Given the description of an element on the screen output the (x, y) to click on. 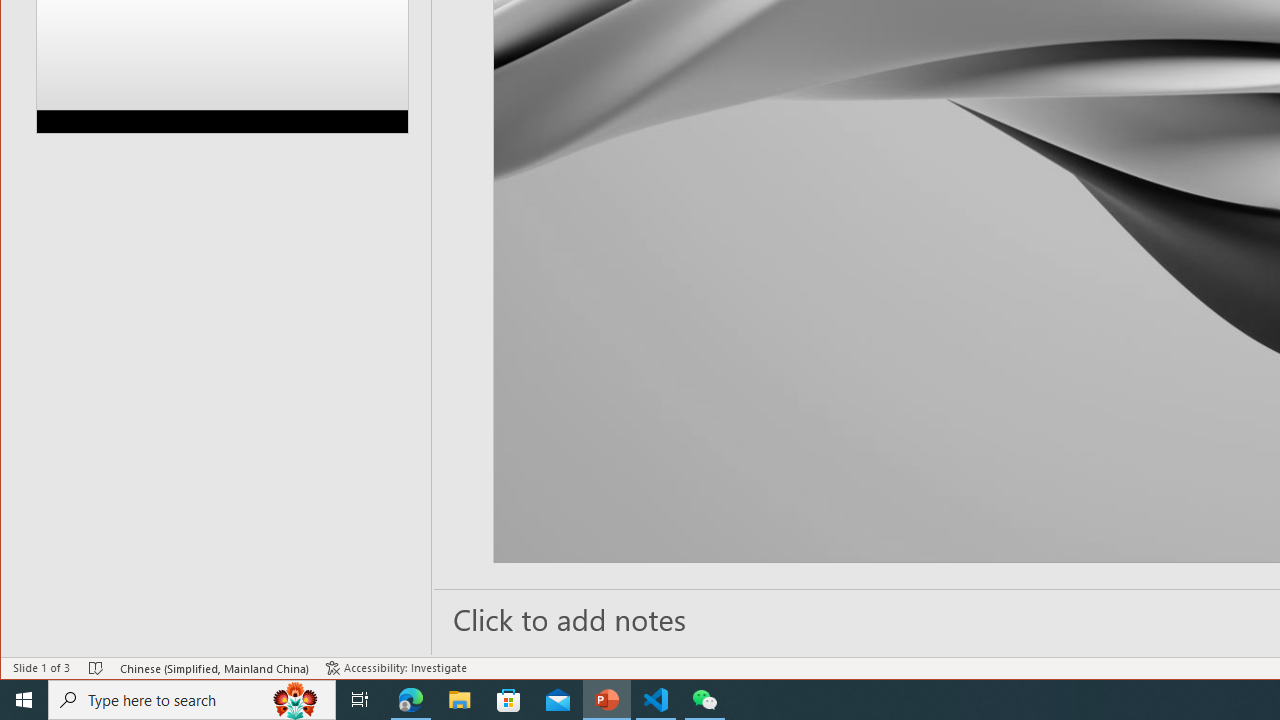
WeChat - 1 running window (704, 699)
